Given the description of an element on the screen output the (x, y) to click on. 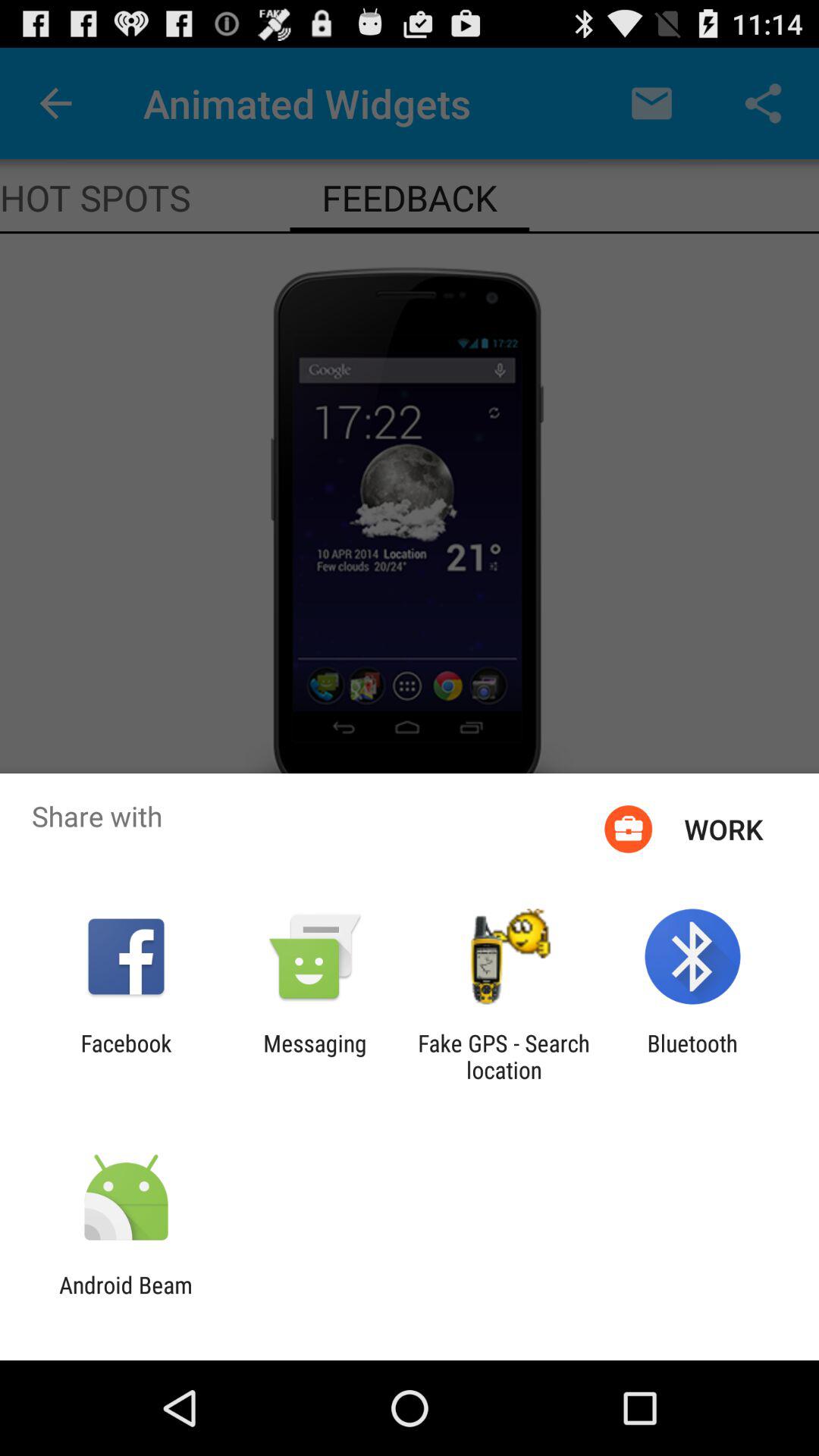
turn on the messaging app (314, 1056)
